Given the description of an element on the screen output the (x, y) to click on. 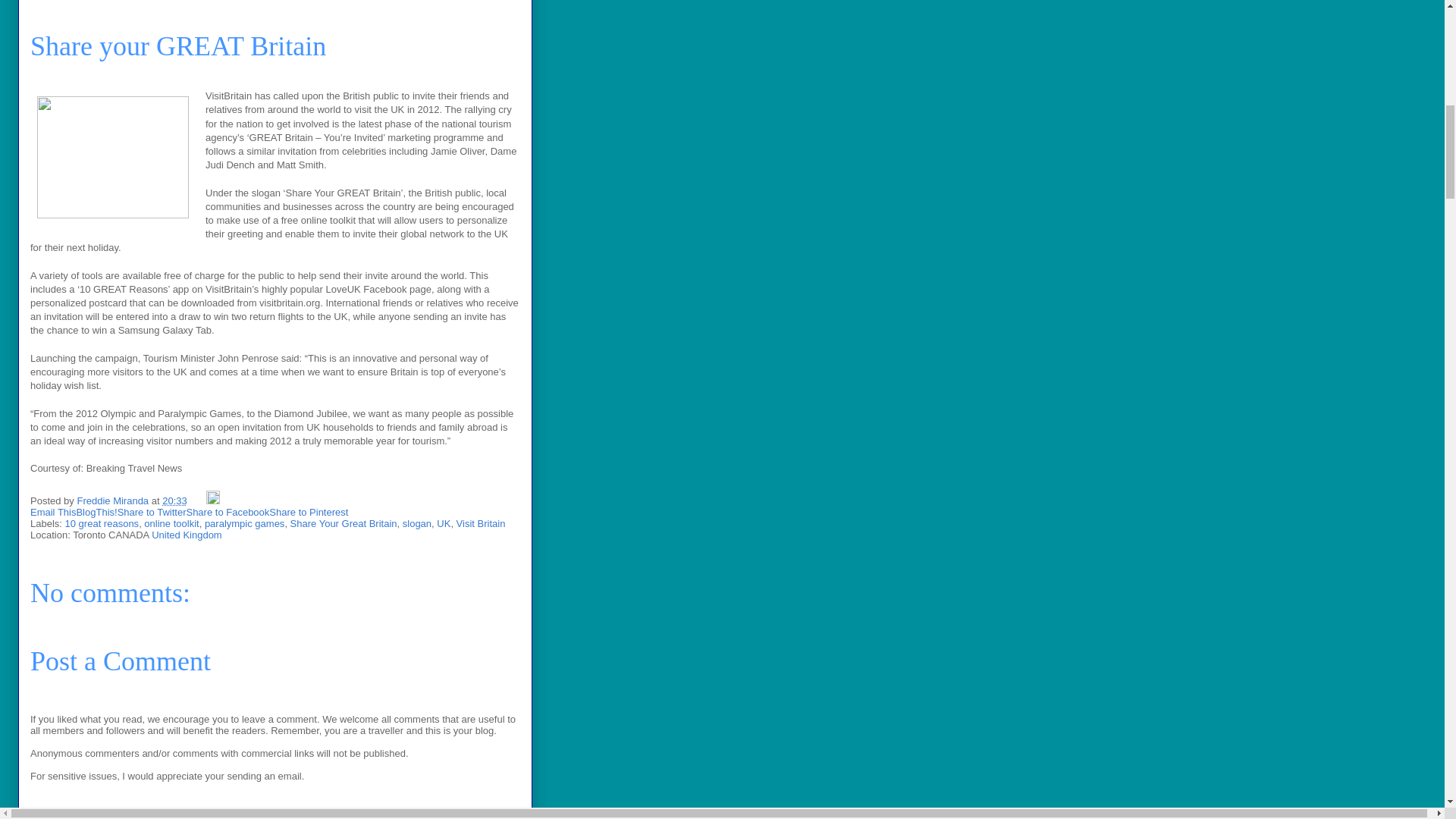
Email This (52, 511)
Edit Post (212, 500)
author profile (114, 500)
Email Post (197, 500)
permanent link (174, 500)
Share to Pinterest (308, 511)
Share to Twitter (151, 511)
Freddie Miranda (114, 500)
Share to Facebook (227, 511)
UK (442, 523)
slogan (416, 523)
Share Your Great Britain (343, 523)
Visit Britain (481, 523)
United Kingdom (186, 534)
online toolkit (171, 523)
